Given the description of an element on the screen output the (x, y) to click on. 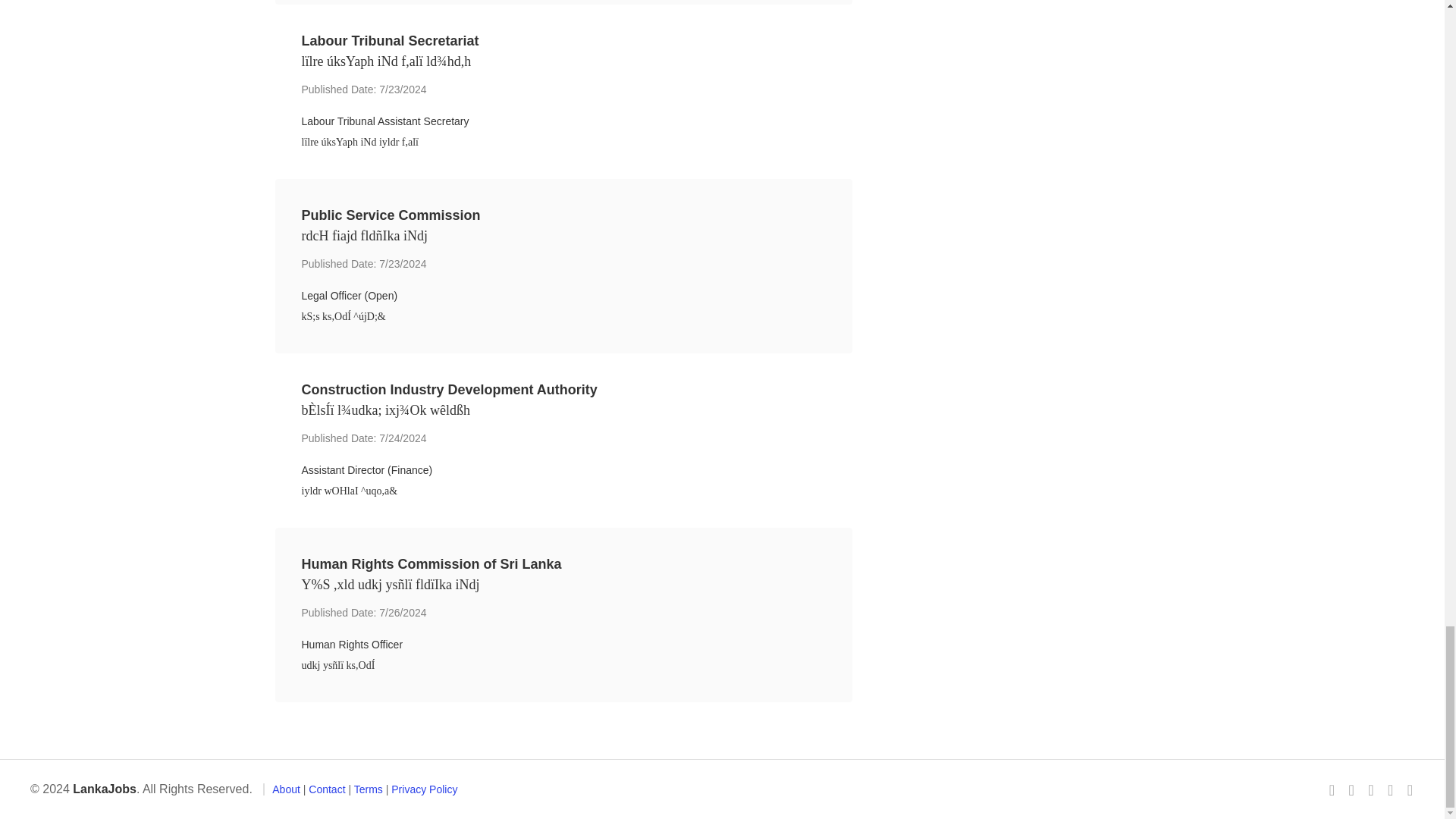
Terms (367, 788)
Privacy Policy (424, 788)
Contact (326, 788)
About (285, 788)
